Given the description of an element on the screen output the (x, y) to click on. 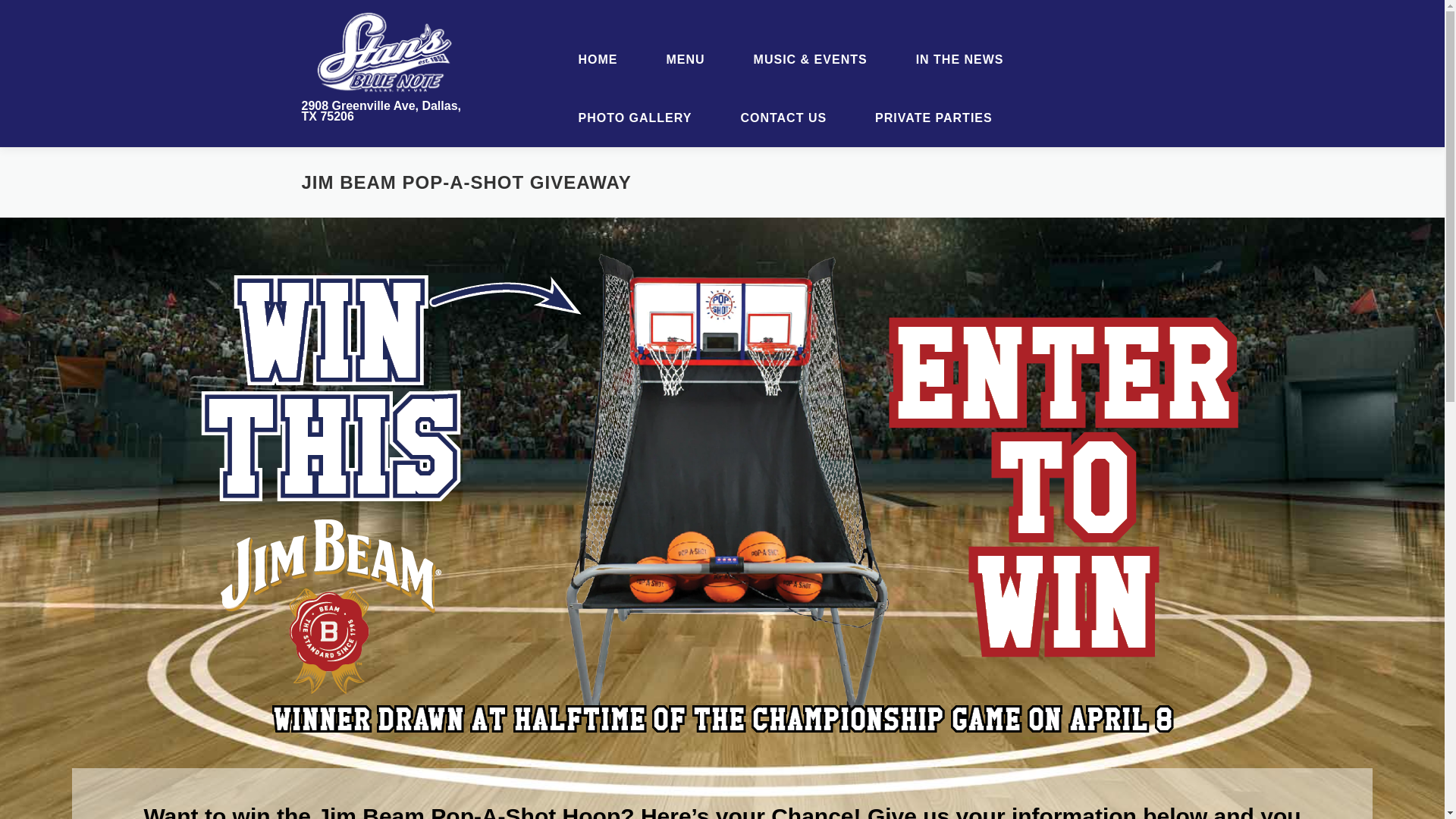
PHOTO GALLERY (634, 117)
MENU (685, 59)
CONTACT US (783, 117)
PRIVATE PARTIES (928, 117)
IN THE NEWS (959, 59)
HOME (597, 59)
